Given the description of an element on the screen output the (x, y) to click on. 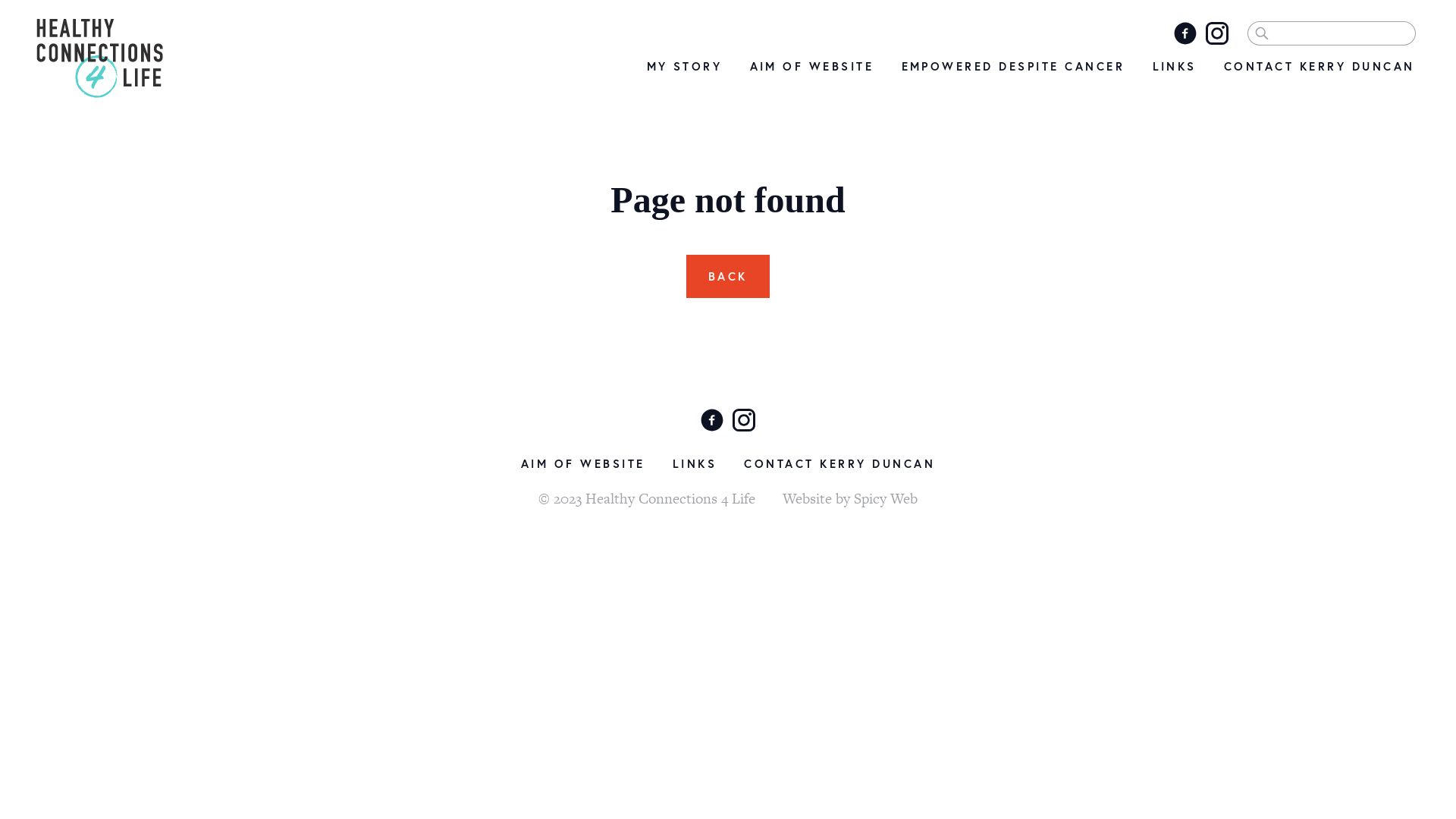
AIM OF WEBSITE Element type: text (582, 462)
LINKS Element type: text (1175, 65)
BACK Element type: text (727, 276)
Spicy Web Element type: text (885, 498)
Instagram Element type: hover (1216, 32)
CONTACT KERRY DUNCAN Element type: text (839, 462)
Facebook Element type: hover (711, 417)
EMPOWERED DESPITE CANCER Element type: text (1012, 65)
MY STORY Element type: text (683, 65)
Instagram Element type: hover (743, 417)
LINKS Element type: text (694, 462)
AIM OF WEBSITE Element type: text (811, 65)
CONTACT KERRY DUNCAN Element type: text (1319, 65)
Facebook Element type: hover (1184, 32)
